Given the description of an element on the screen output the (x, y) to click on. 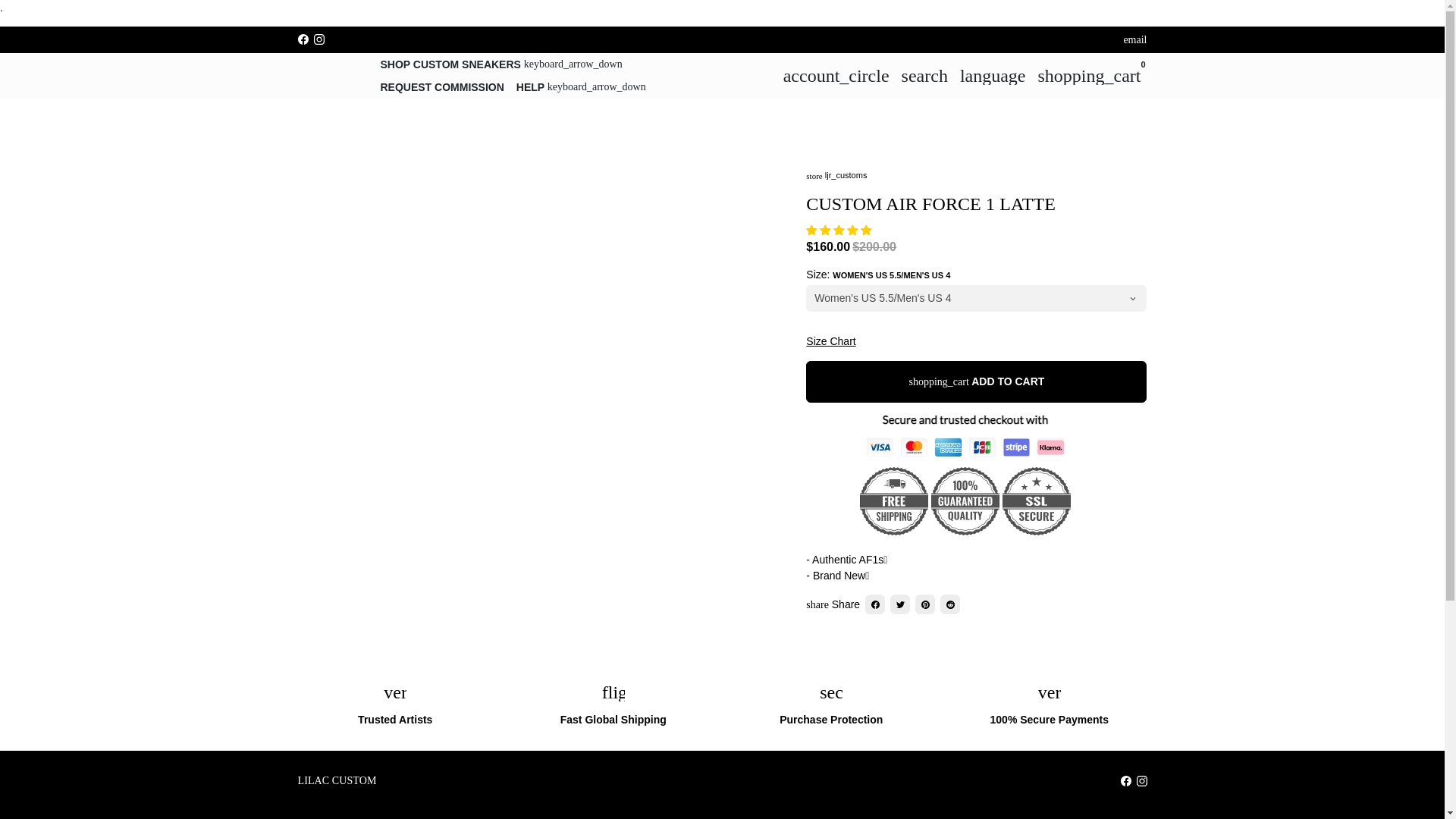
language (992, 75)
Log In (836, 75)
REQUEST COMMISSION (442, 87)
search (924, 75)
Share on Facebook (874, 604)
Tweet on Twitter (899, 604)
Cart (1089, 75)
email (1134, 39)
Search (924, 75)
